Given the description of an element on the screen output the (x, y) to click on. 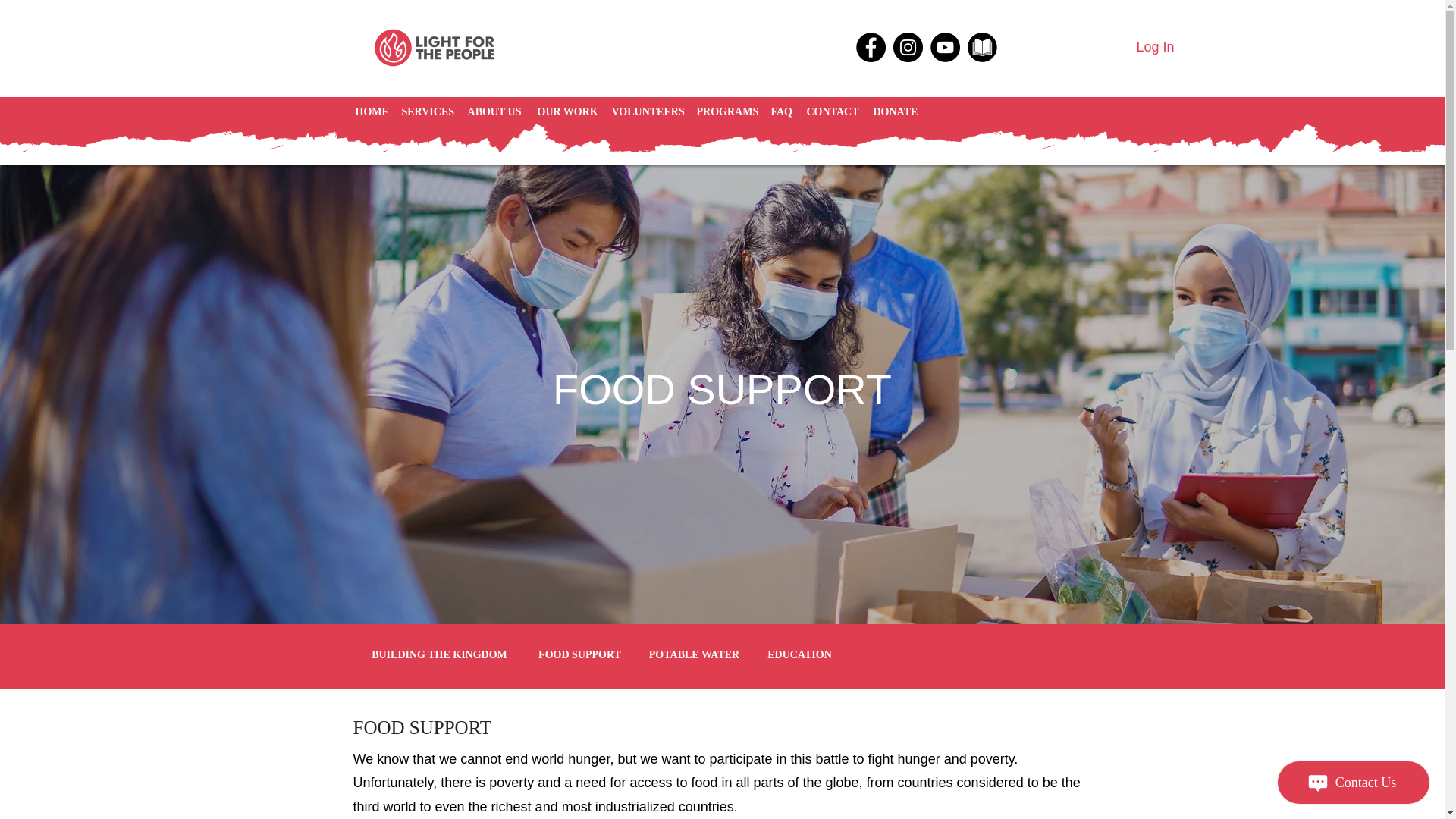
HOME (370, 111)
FAQ (779, 111)
DONATE (895, 111)
VOLUNTEERS (646, 111)
PROGRAMS (725, 111)
POTABLE WATER (694, 654)
SERVICES (427, 111)
ABOUT US (494, 111)
OUR WORK (566, 111)
CONTACT (832, 111)
EDUCATION (799, 654)
Log In (1155, 47)
FOOD SUPPORT (579, 654)
BUILDING THE KINGDOM (439, 654)
